Given the description of an element on the screen output the (x, y) to click on. 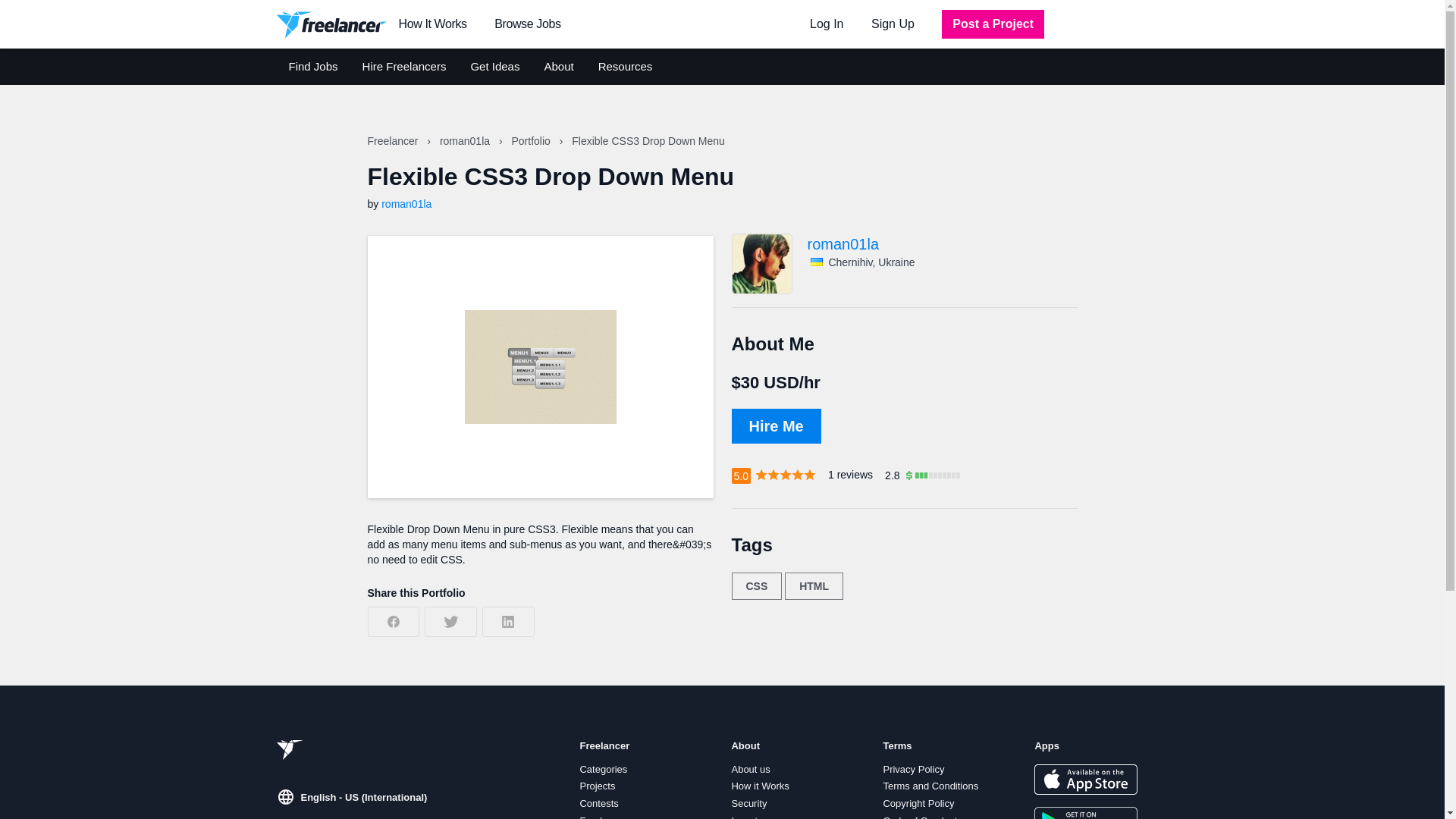
Flag of Ukraine (815, 261)
How It Works (432, 24)
Post a Project (992, 23)
roman01la (941, 243)
About us (750, 769)
Security (748, 803)
HTML (813, 585)
Portfolio (532, 141)
roman01la (466, 141)
Projects (596, 786)
